Given the description of an element on the screen output the (x, y) to click on. 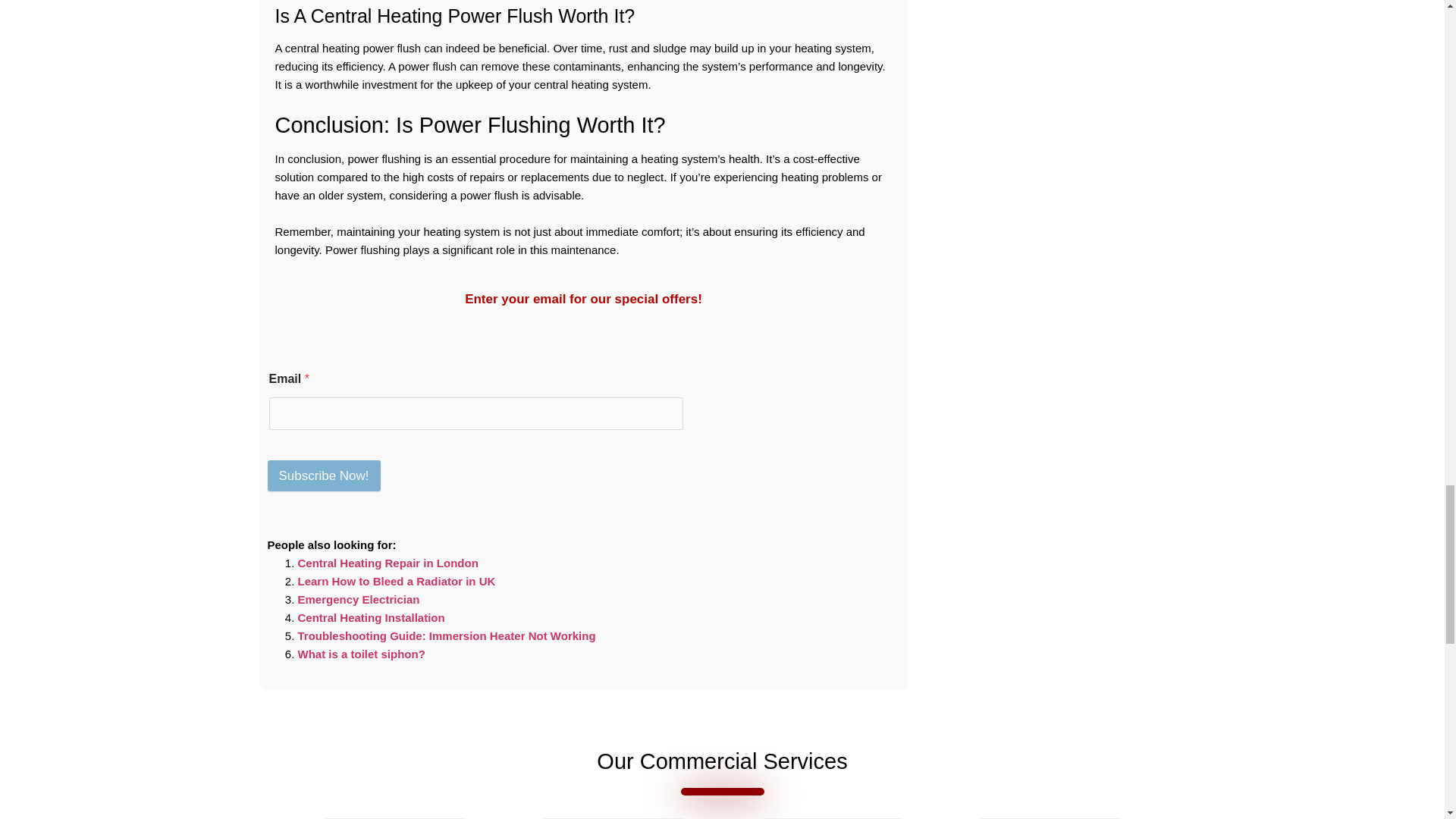
Central Heating Repair in London (387, 562)
Emergency Electrician (358, 599)
Learn How to Bleed a Radiator in UK (396, 581)
What is a toilet siphon? (361, 653)
Troubleshooting Guide: Immersion Heater Not Working (446, 635)
Central Heating Installation (370, 617)
